Given the description of an element on the screen output the (x, y) to click on. 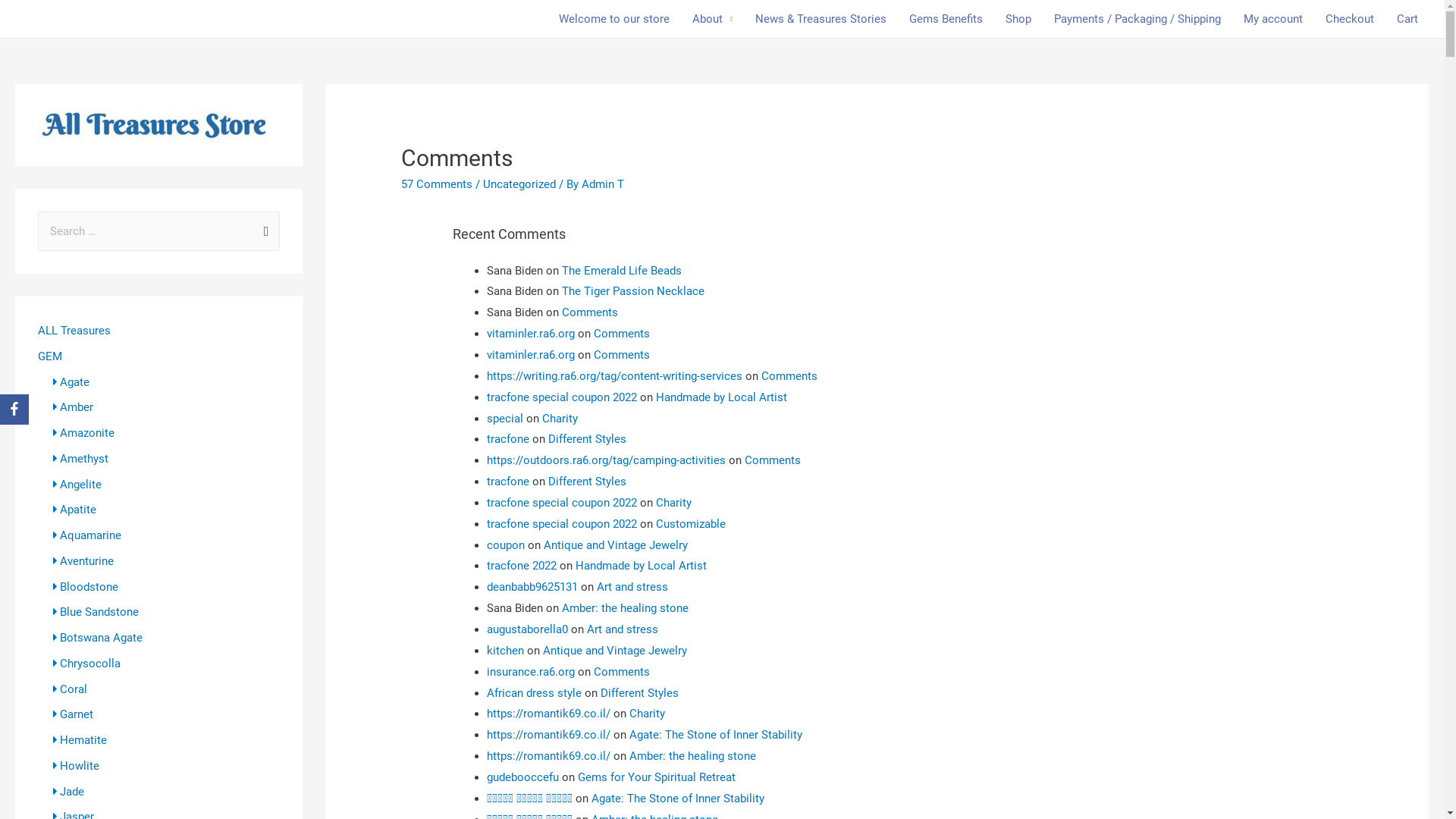
augustaborella0 Element type: text (526, 629)
Search Element type: text (262, 226)
GEM Element type: text (49, 356)
Aventurine Element type: text (83, 560)
vitaminler.ra6.org Element type: text (530, 354)
Bloodstone Element type: text (85, 586)
Charity Element type: text (673, 502)
deanbabb9625131 Element type: text (531, 586)
Customizable Element type: text (690, 523)
Comments Element type: text (621, 671)
Art and stress Element type: text (632, 586)
gudebooccefu Element type: text (522, 777)
Gems for Your Spiritual Retreat Element type: text (656, 777)
vitaminler.ra6.org Element type: text (530, 333)
https://romantik69.co.il/ Element type: text (548, 713)
The Tiger Passion Necklace Element type: text (632, 291)
Checkout Element type: text (1349, 18)
tracfone special coupon 2022 Element type: text (561, 397)
kitchen Element type: text (505, 650)
Charity Element type: text (559, 418)
https://romantik69.co.il/ Element type: text (548, 734)
Different Styles Element type: text (587, 481)
special Element type: text (504, 418)
https://romantik69.co.il/ Element type: text (548, 755)
57 Comments Element type: text (436, 184)
Different Styles Element type: text (587, 438)
Amethyst Element type: text (80, 458)
Admin T Element type: text (602, 184)
Gems Benefits Element type: text (945, 18)
Amber Element type: text (73, 407)
Antique and Vintage Jewelry Element type: text (615, 545)
tracfone special coupon 2022 Element type: text (561, 502)
Angelite Element type: text (77, 484)
Garnet Element type: text (73, 714)
Welcome to our store Element type: text (613, 18)
Comments Element type: text (589, 312)
Howlite Element type: text (76, 765)
Handmade by Local Artist Element type: text (721, 397)
Payments / Packaging / Shipping Element type: text (1137, 18)
Comments Element type: text (772, 460)
insurance.ra6.org Element type: text (530, 671)
Amber: the healing stone Element type: text (692, 755)
Agate: The Stone of Inner Stability Element type: text (677, 798)
Art and stress Element type: text (622, 629)
Uncategorized Element type: text (519, 184)
Agate: The Stone of Inner Stability Element type: text (715, 734)
News & Treasures Stories Element type: text (820, 18)
Shop Element type: text (1018, 18)
https://writing.ra6.org/tag/content-writing-services Element type: text (614, 375)
Apatite Element type: text (74, 509)
Cart Element type: text (1407, 18)
Aquamarine Element type: text (87, 535)
https://outdoors.ra6.org/tag/camping-activities Element type: text (605, 460)
Amber: the healing stone Element type: text (624, 608)
My account Element type: text (1273, 18)
Different Styles Element type: text (639, 692)
Blue Sandstone Element type: text (95, 611)
Jade Element type: text (68, 790)
The Emerald Life Beads Element type: text (621, 270)
Handmade by Local Artist Element type: text (640, 565)
Agate Element type: text (71, 381)
tracfone Element type: text (507, 438)
tracfone special coupon 2022 Element type: text (561, 523)
Coral Element type: text (70, 689)
tracfone Element type: text (507, 481)
Chrysocolla Element type: text (86, 663)
Comments Element type: text (621, 354)
Amazonite Element type: text (83, 432)
coupon Element type: text (505, 545)
Comments Element type: text (621, 333)
About Element type: text (711, 18)
Antique and Vintage Jewelry Element type: text (614, 650)
Botswana Agate Element type: text (97, 637)
Comments Element type: text (789, 375)
Hematite Element type: text (79, 739)
African dress style Element type: text (533, 692)
ALL Treasures Element type: text (73, 330)
tracfone 2022 Element type: text (521, 565)
Charity Element type: text (647, 713)
